Given the description of an element on the screen output the (x, y) to click on. 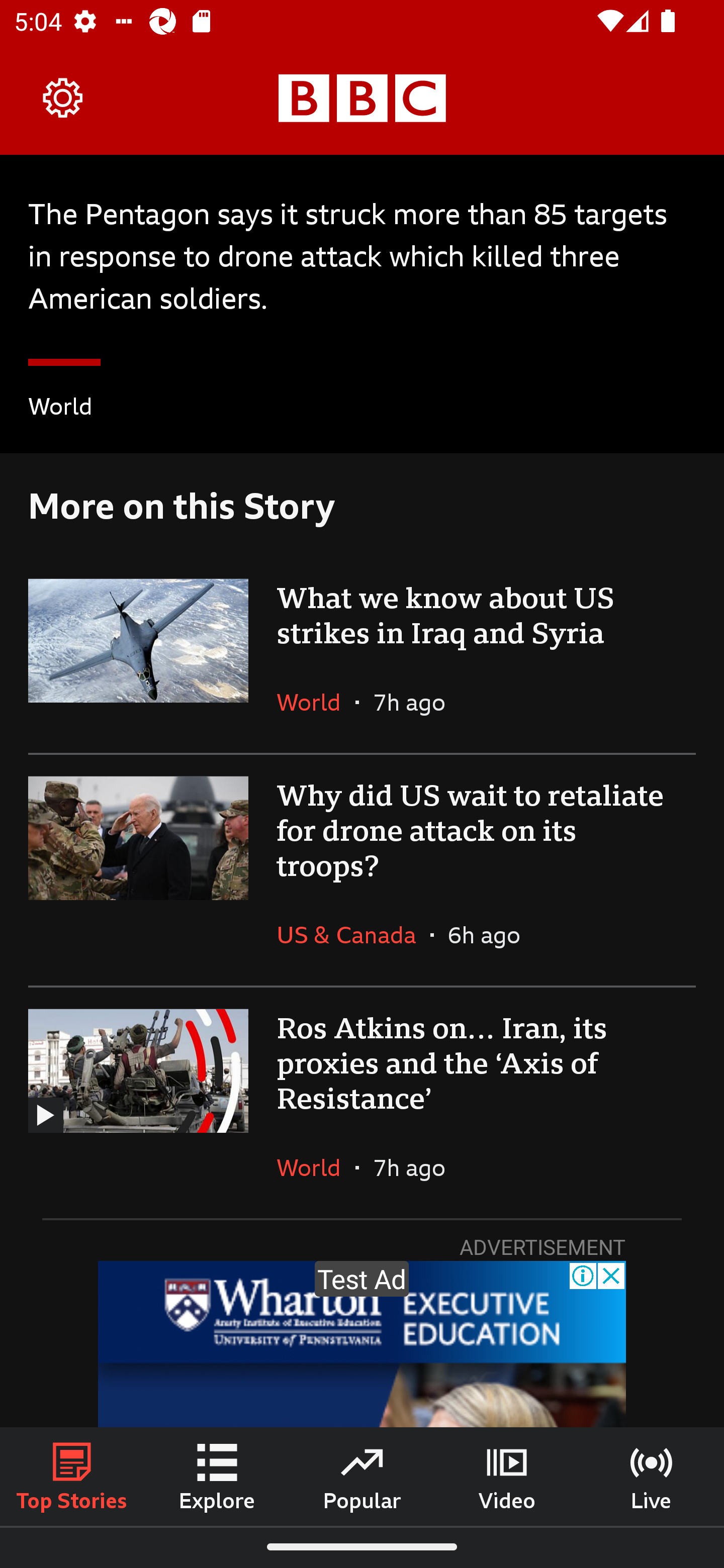
Settings (63, 97)
World In the section World (60, 409)
World In the section World (315, 701)
US & Canada In the section US & Canada (353, 935)
World In the section World (315, 1167)
Explore (216, 1475)
Popular (361, 1475)
Video (506, 1475)
Live (651, 1475)
